Given the description of an element on the screen output the (x, y) to click on. 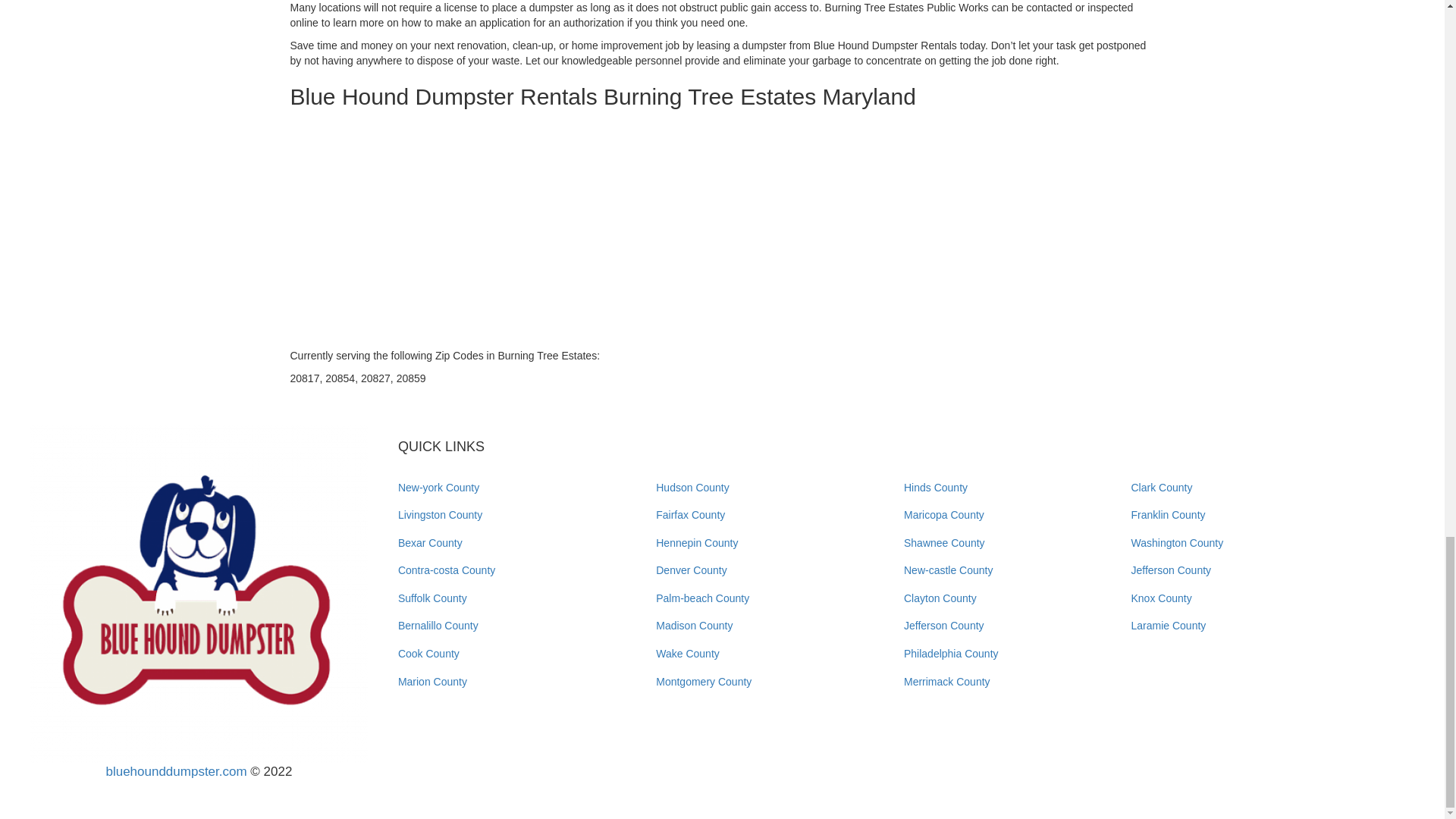
cropped-fav-icon.png (199, 593)
